Given the description of an element on the screen output the (x, y) to click on. 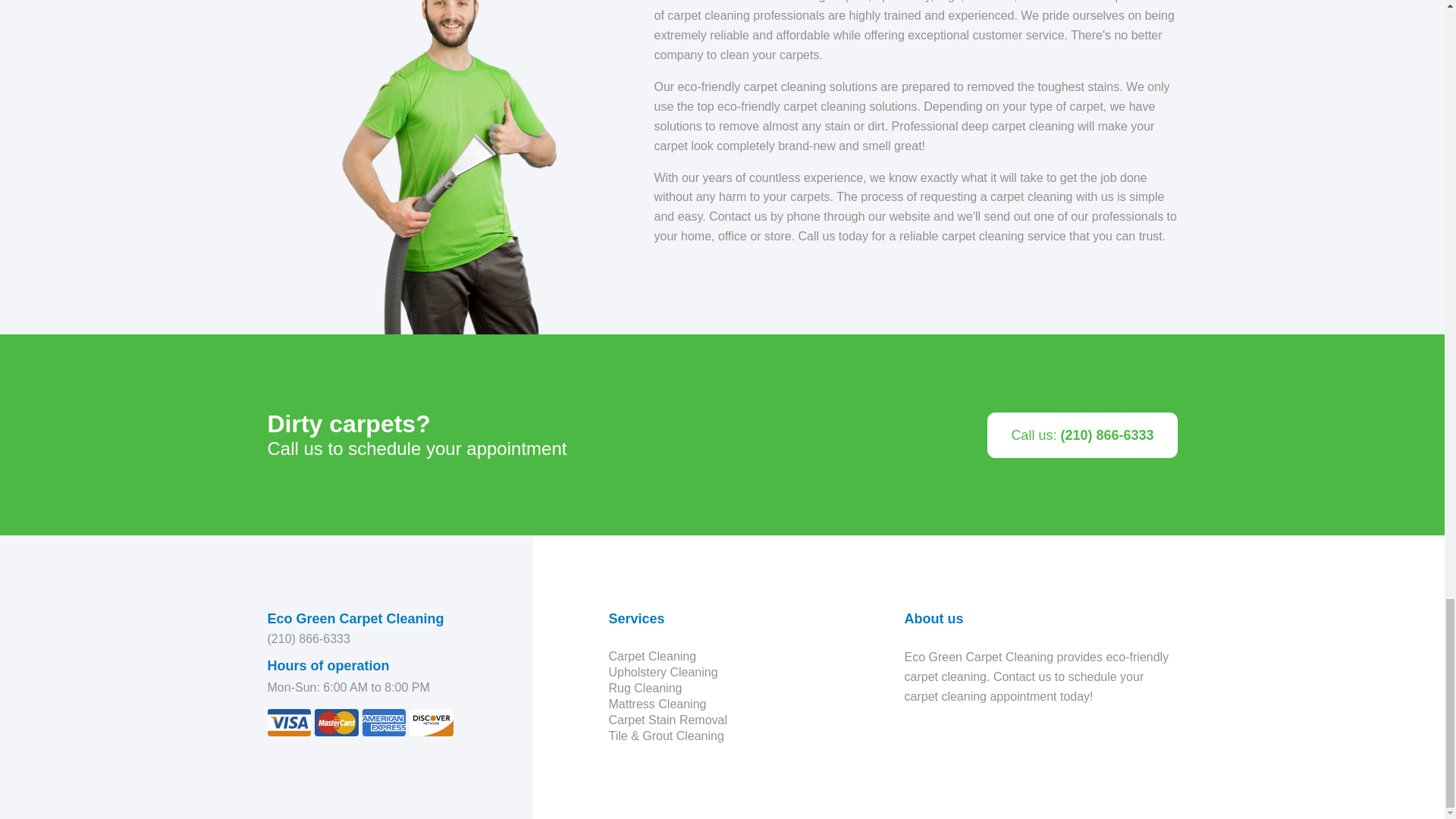
Carpet Cleaning (651, 656)
Rug Cleaning (644, 687)
Mattress Cleaning (657, 703)
Upholstery Cleaning (662, 671)
Carpet Stain Removal (667, 719)
